Given the description of an element on the screen output the (x, y) to click on. 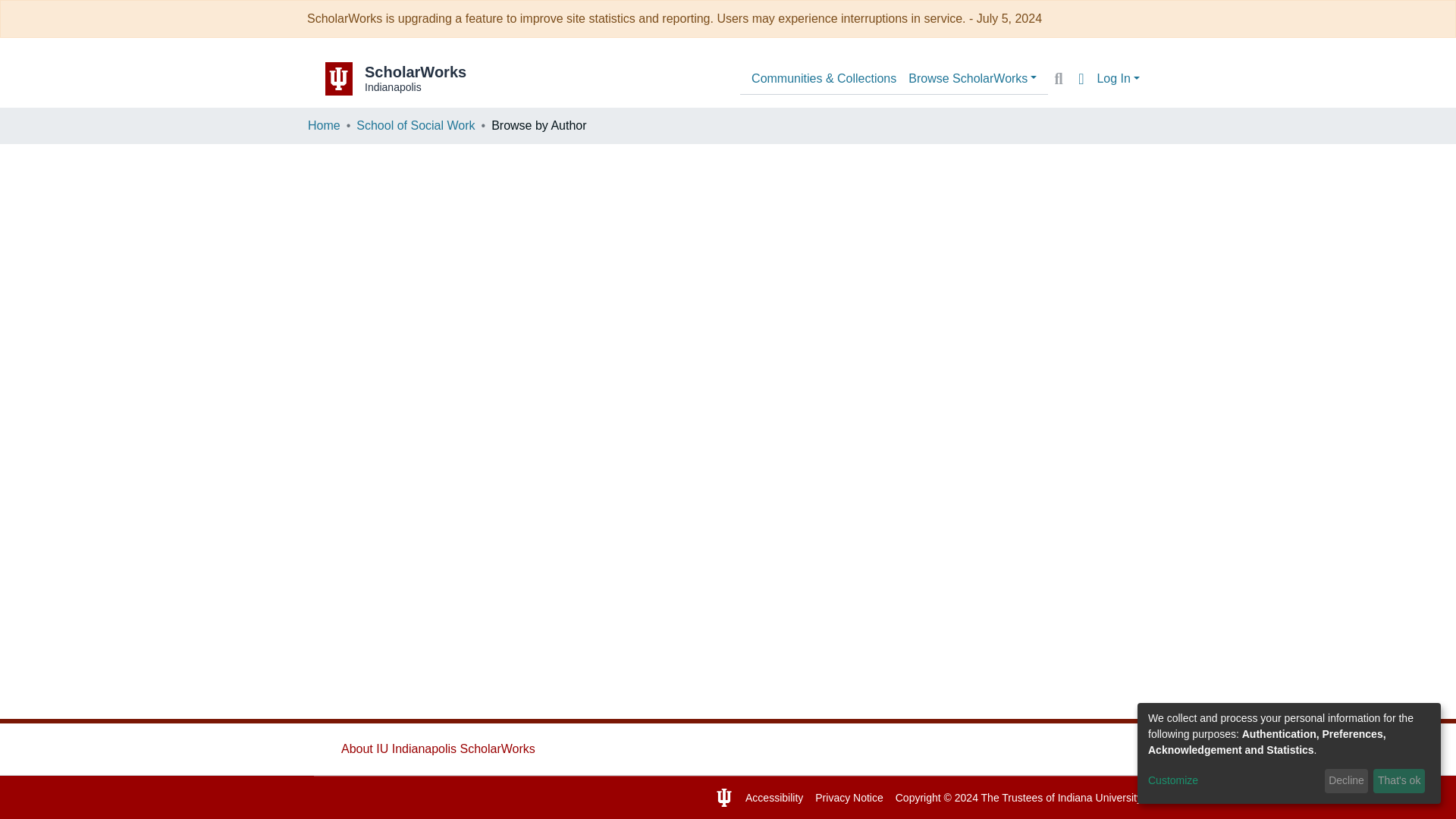
Log In (1117, 78)
Indiana University (1099, 797)
Search (1058, 78)
Privacy Notice (848, 797)
Home (323, 126)
Language switch (1080, 78)
Accessibility (774, 797)
School of Social Work (415, 126)
Customize (1233, 780)
That's ok (1399, 781)
Decline (1346, 781)
Browse ScholarWorks (417, 78)
About IU Indianapolis ScholarWorks (972, 78)
Copyright (437, 748)
